Given the description of an element on the screen output the (x, y) to click on. 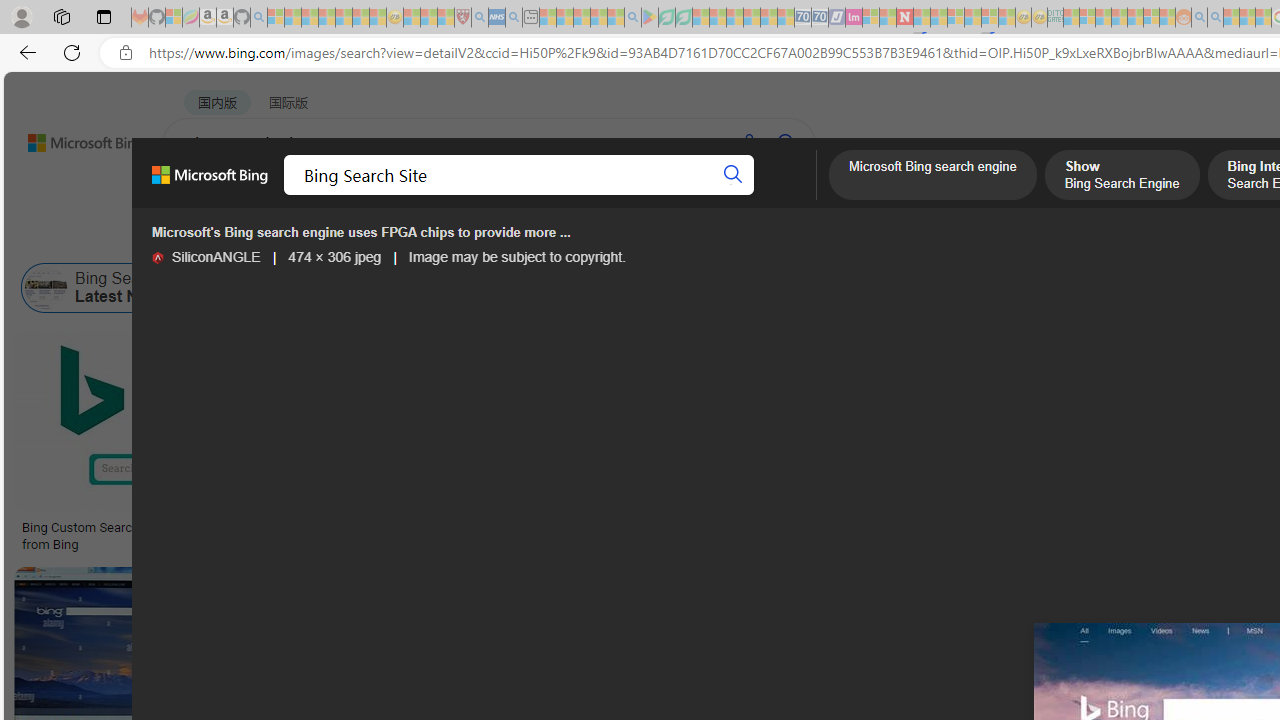
Date (591, 237)
Microsoft Bing, Back to Bing search (209, 183)
ACADEMIC (635, 195)
Cheap Car Rentals - Save70.com - Sleeping (802, 17)
MY BING (276, 195)
Dropdown Menu (793, 195)
Bing Advanced Search Tricks You Should Know (803, 528)
Bing Search Terms (1081, 287)
Bing Searches Today (438, 287)
Show Bing Search Engine (811, 287)
DICT (717, 195)
People (520, 237)
